Given the description of an element on the screen output the (x, y) to click on. 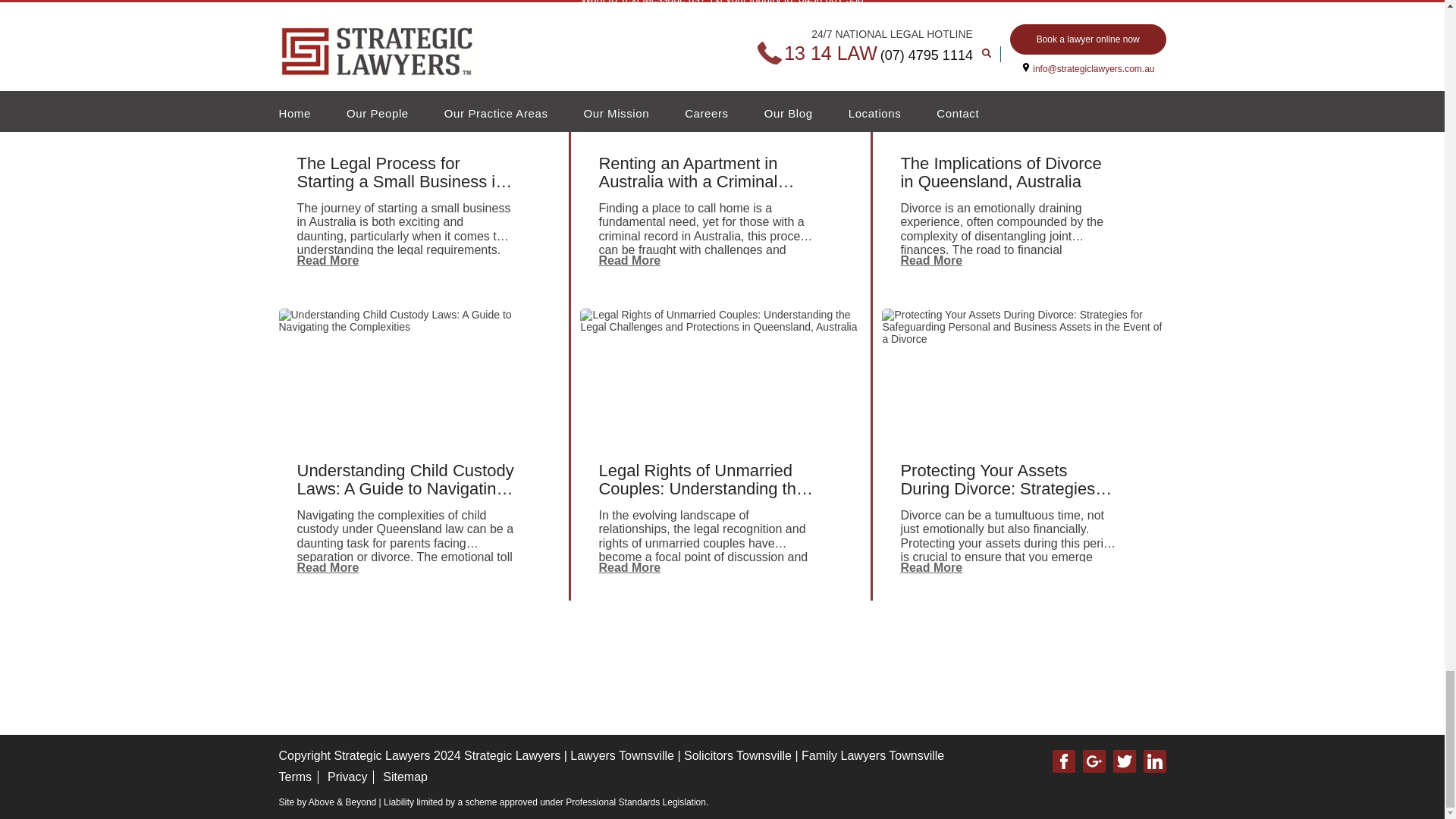
Renting an Apartment in Australia with a Criminal Record (719, 7)
The Implications of Divorce in Queensland, Australia (1011, 7)
